Given the description of an element on the screen output the (x, y) to click on. 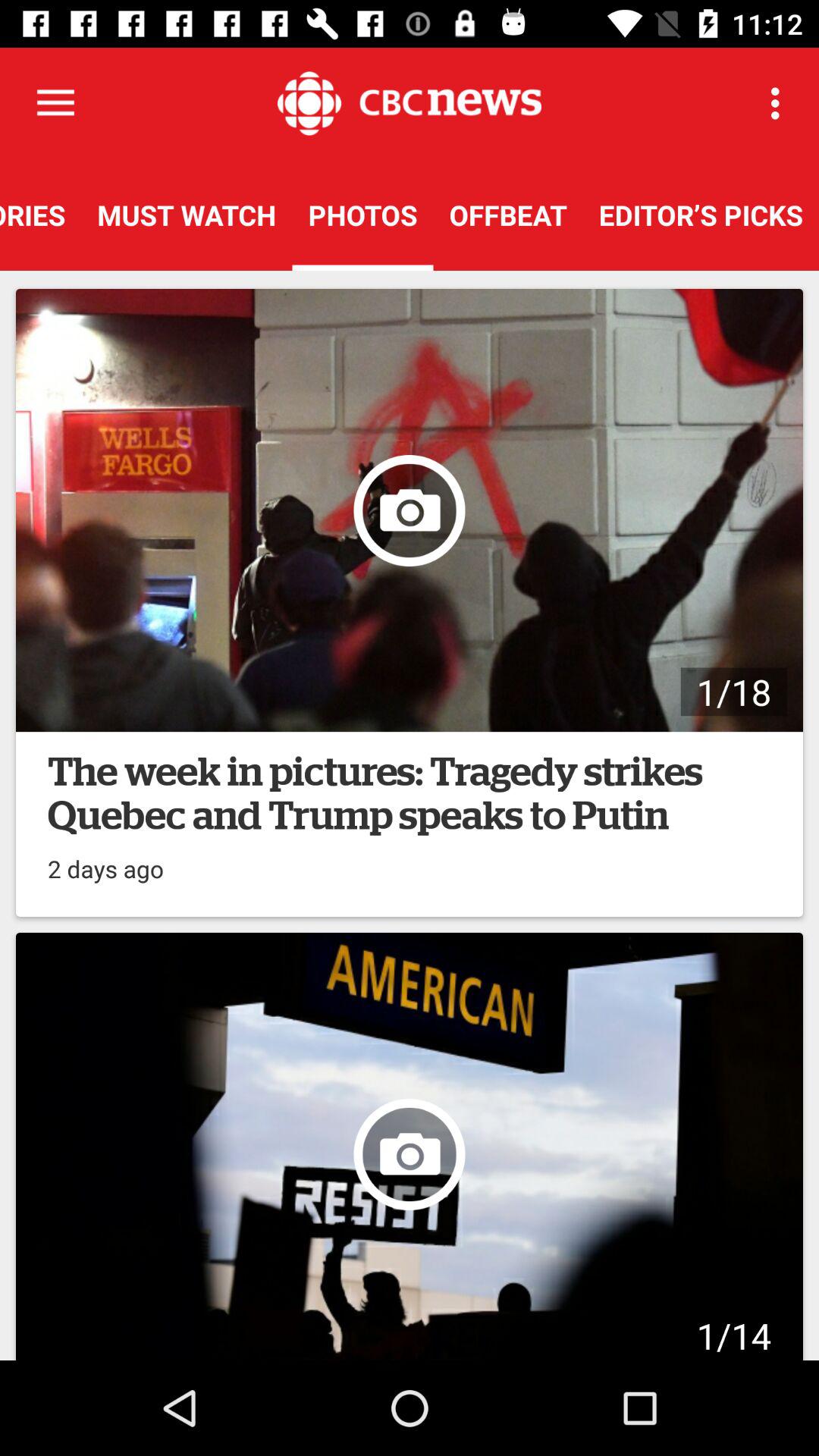
select item next to top stories item (186, 214)
